Given the description of an element on the screen output the (x, y) to click on. 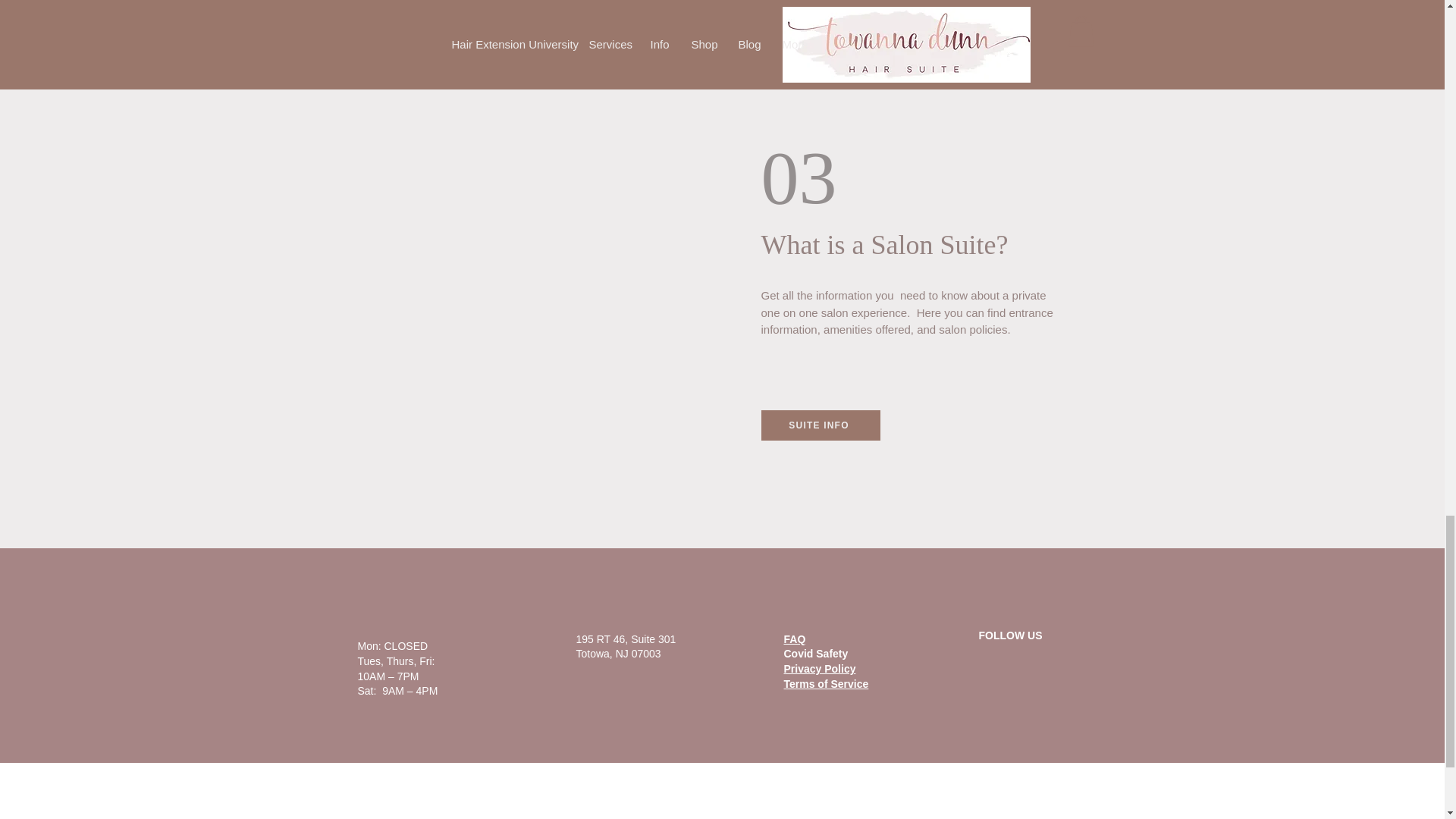
SUITE INFO (820, 425)
Privacy Policy (820, 668)
FAQ (795, 639)
Terms of Service (826, 684)
